Given the description of an element on the screen output the (x, y) to click on. 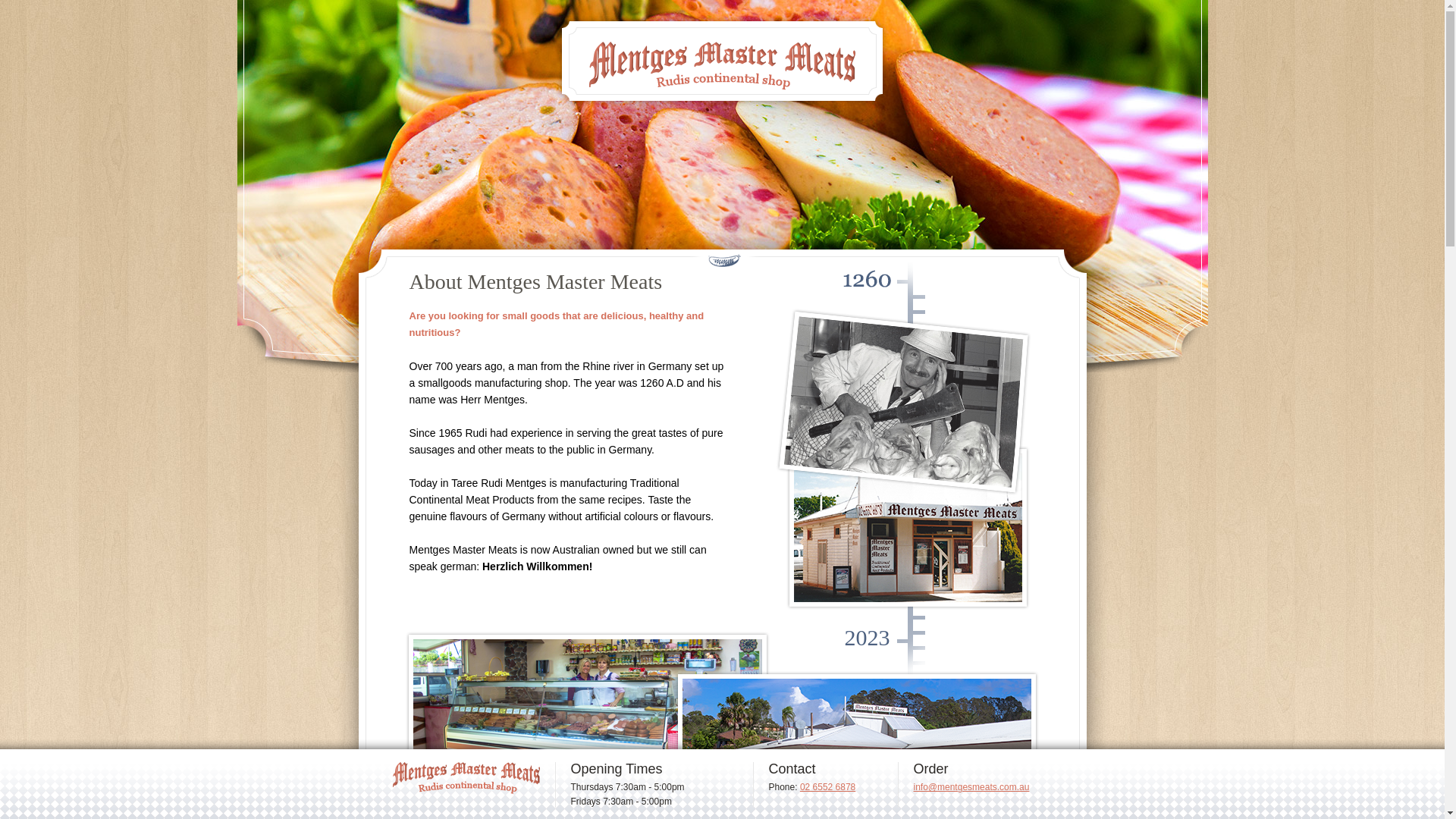
02 6552 6878 Element type: text (827, 786)
info@mentgesmeats.com.au Element type: text (971, 786)
